Given the description of an element on the screen output the (x, y) to click on. 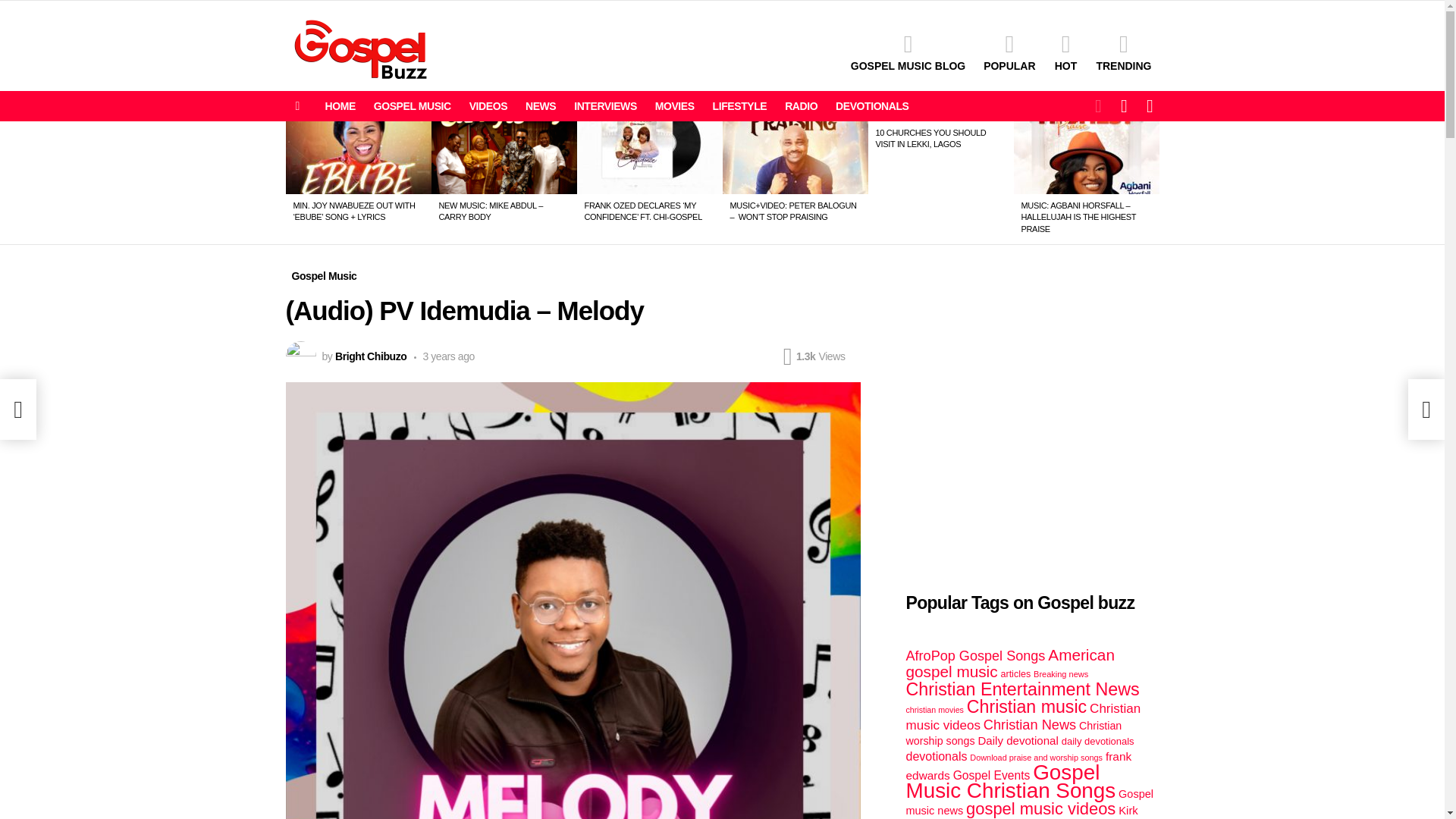
GOSPEL MUSIC BLOG (907, 51)
INTERVIEWS (605, 106)
DEVOTIONALS (872, 106)
POPULAR (1008, 51)
NEWS (540, 106)
10 CHURCHES YOU SHOULD VISIT IN LEKKI, LAGOS (930, 137)
TRENDING (1122, 51)
GOSPEL MUSIC (412, 106)
November 25, 2021, 7:40 pm (443, 356)
Posts by Bright Chibuzo (370, 356)
